Given the description of an element on the screen output the (x, y) to click on. 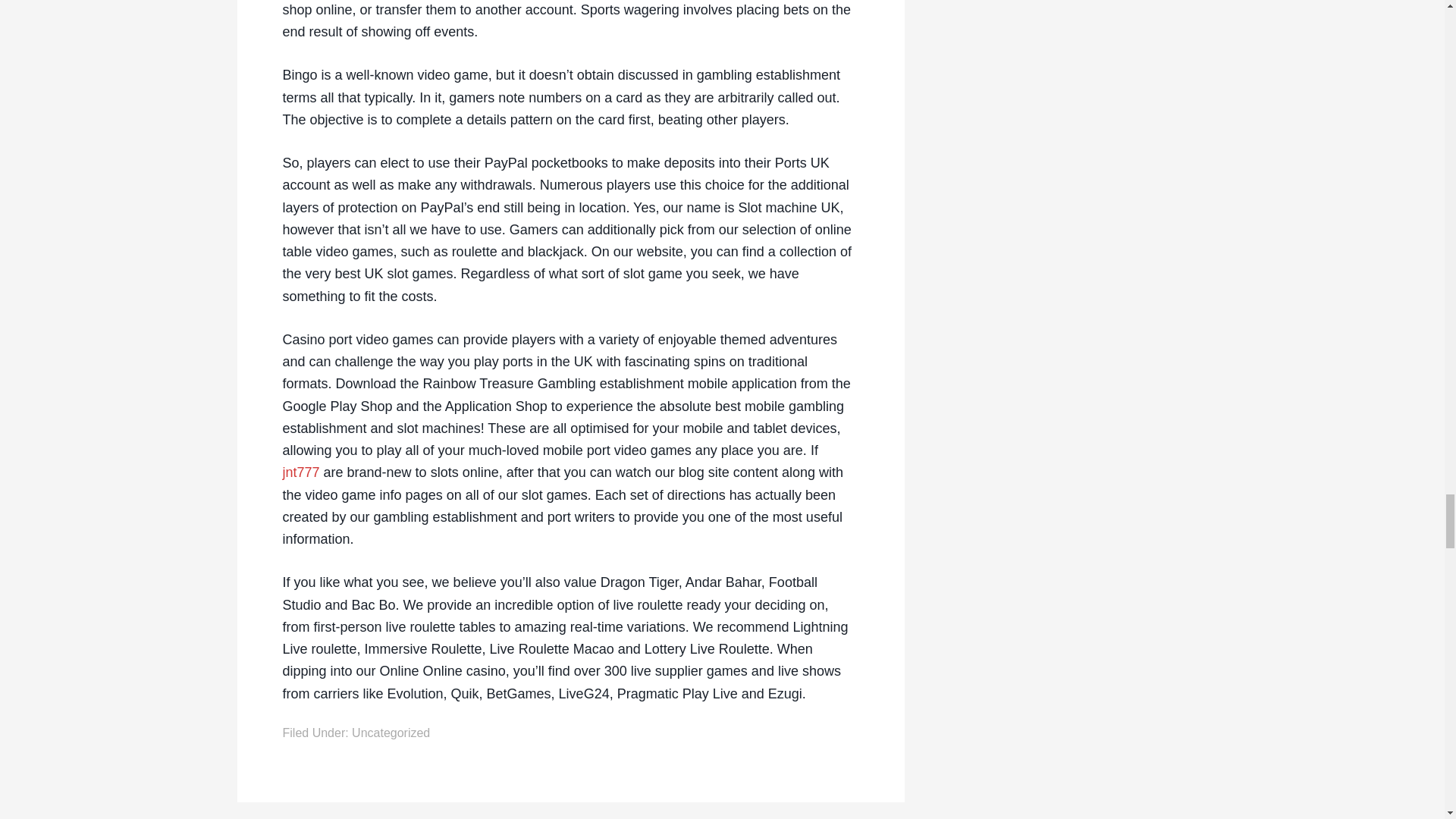
Uncategorized (390, 732)
jnt777 (300, 472)
